Given the description of an element on the screen output the (x, y) to click on. 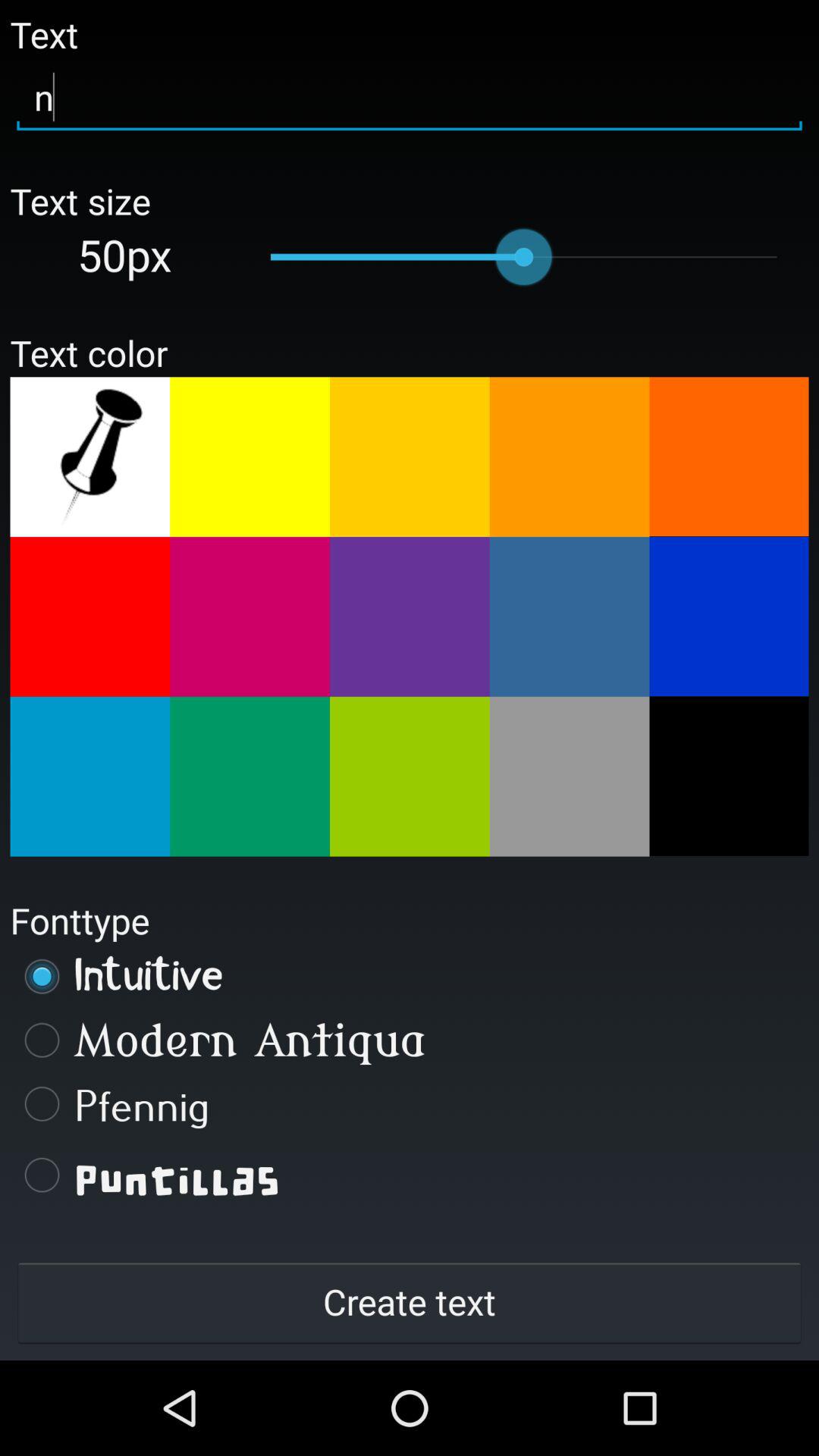
selct color tool (90, 456)
